Given the description of an element on the screen output the (x, y) to click on. 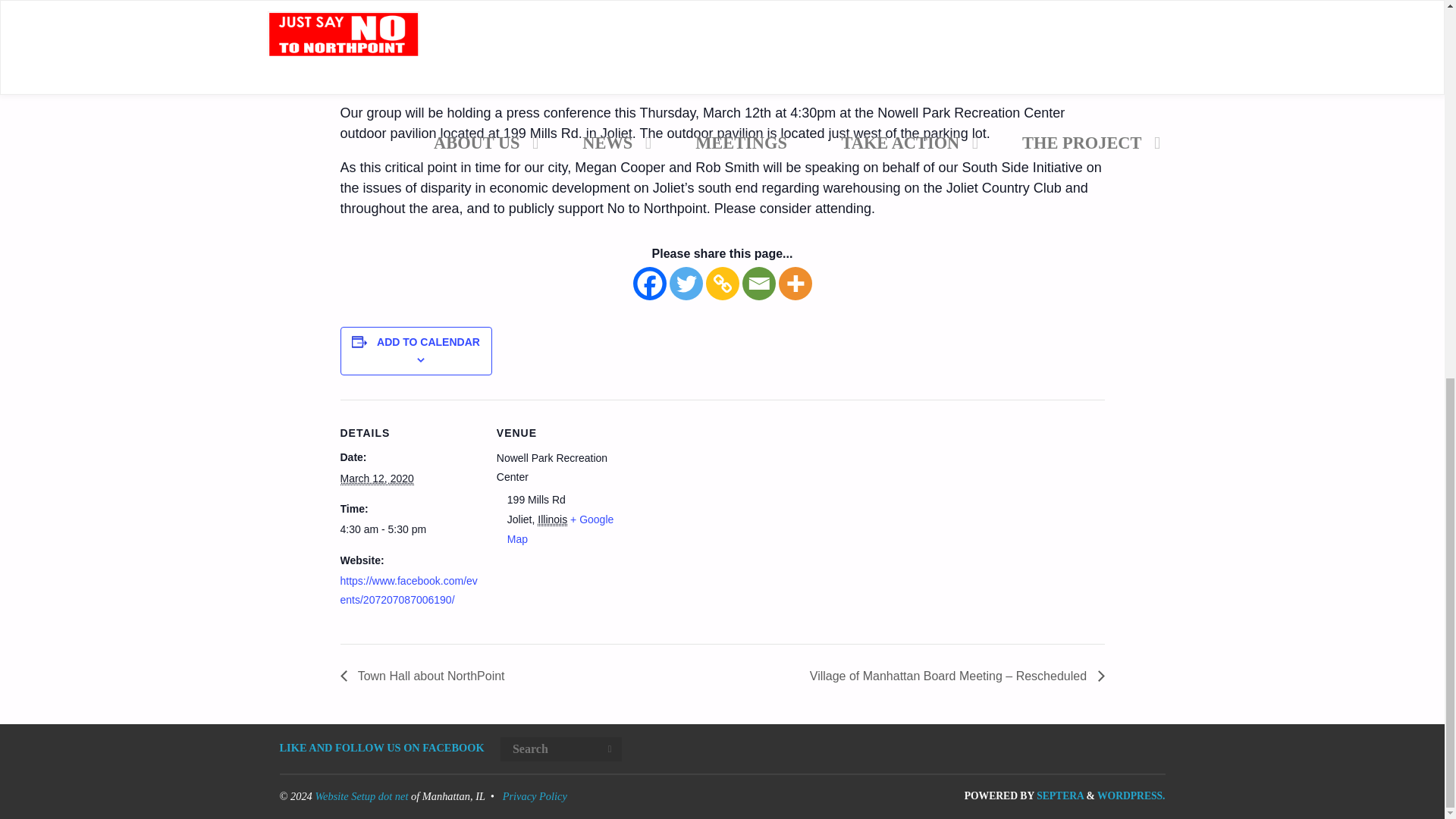
More (793, 283)
Click to view a Google Map (559, 529)
Facebook (648, 283)
2020-03-12 (376, 477)
Email (757, 283)
Illinois (552, 519)
Twitter (684, 283)
Copy Link (721, 283)
2020-03-12 (408, 529)
